Given the description of an element on the screen output the (x, y) to click on. 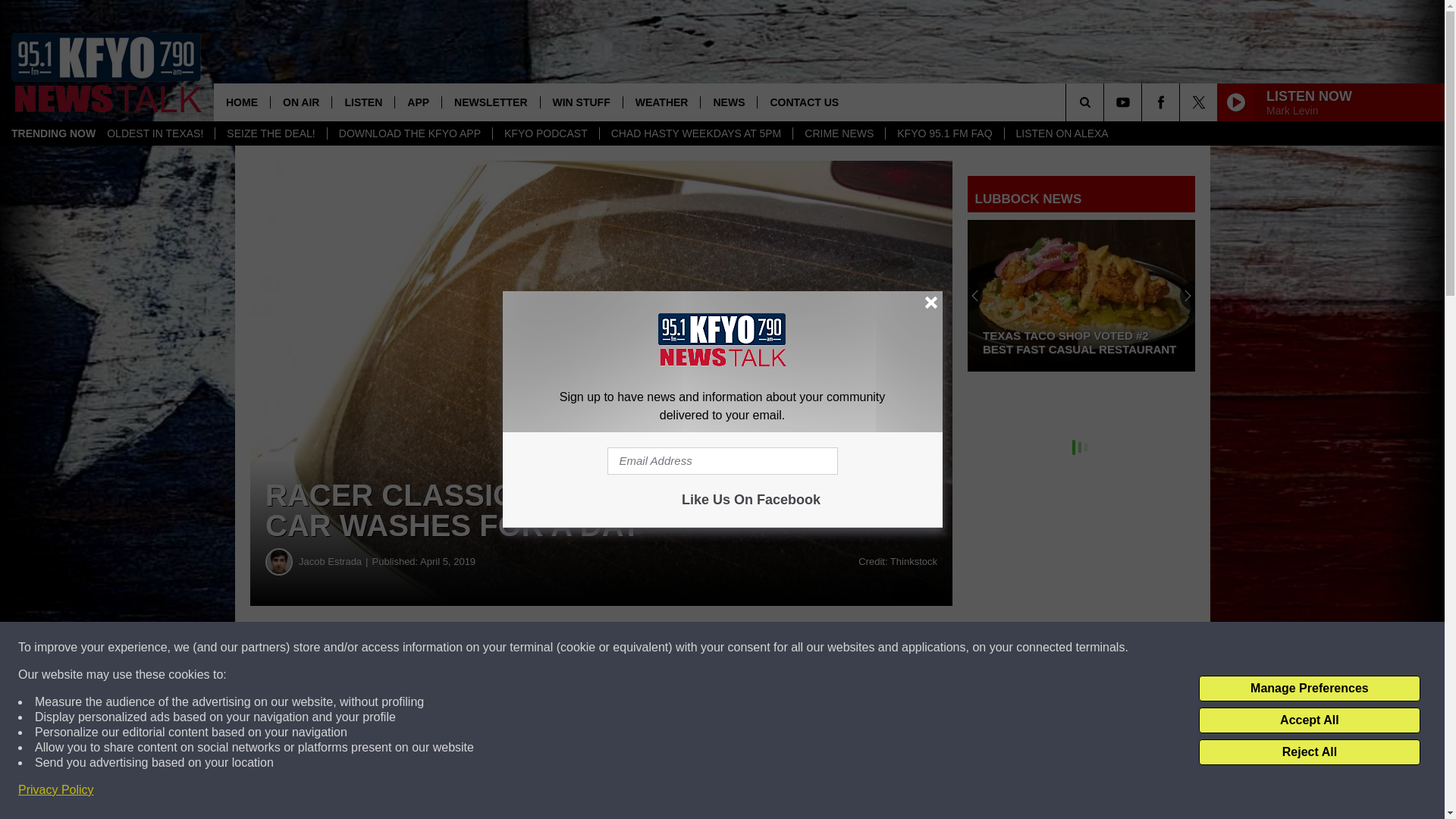
ON AIR (300, 102)
Share on Facebook (460, 647)
APP (417, 102)
HOME (241, 102)
SEIZE THE DEAL! (270, 133)
Manage Preferences (1309, 688)
Email Address (722, 461)
CHAD HASTY WEEKDAYS AT 5PM (695, 133)
SEARCH (1106, 102)
NEWSLETTER (489, 102)
WIN STUFF (581, 102)
KFYO PODCAST (545, 133)
LISTEN (362, 102)
CRIME NEWS (838, 133)
Accept All (1309, 720)
